Given the description of an element on the screen output the (x, y) to click on. 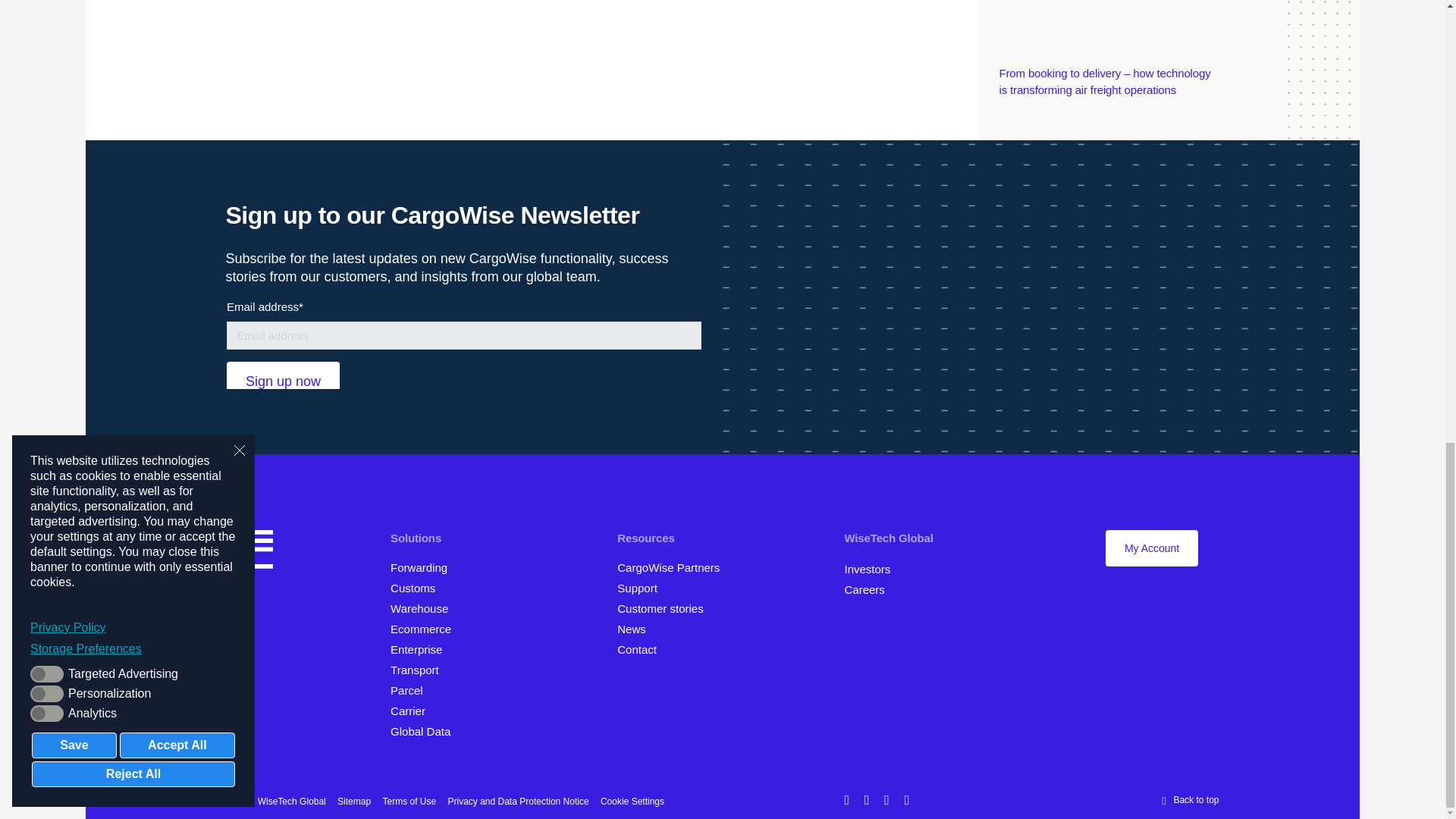
Ecommerce (425, 628)
CargoWise Parcel (413, 689)
Customer Stories (667, 608)
Global Trade Management and Compliance (417, 587)
Find a Partner (673, 567)
Warehouse Management (424, 608)
Enterprise Tools (421, 649)
Investor center (872, 568)
CargoWise Global Data (425, 730)
International Logistics (424, 567)
Contact (641, 649)
CargoWise Home (249, 552)
Domestic Transport Management (419, 669)
CargoWise Carrier (414, 710)
WiseTech Global (893, 537)
